Given the description of an element on the screen output the (x, y) to click on. 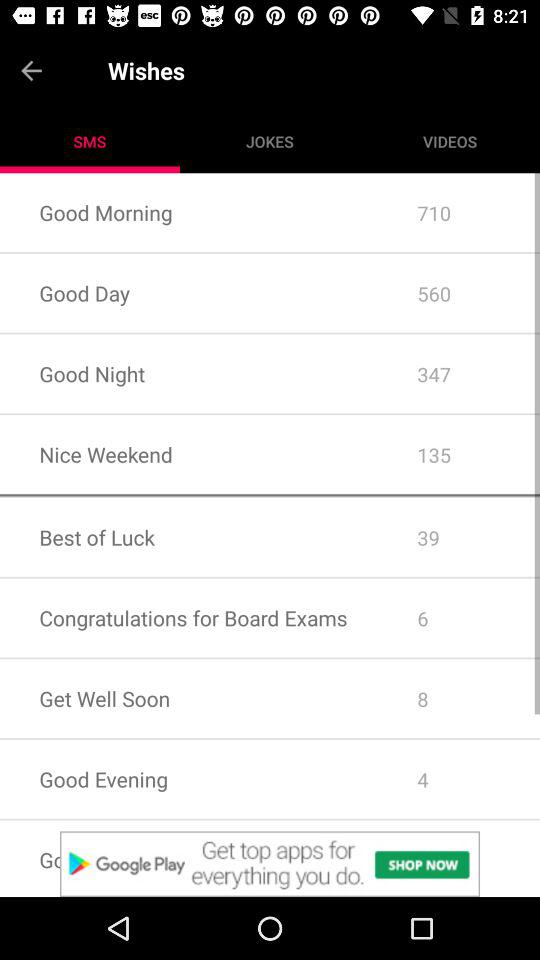
launch icon below congratulations for board (270, 657)
